Given the description of an element on the screen output the (x, y) to click on. 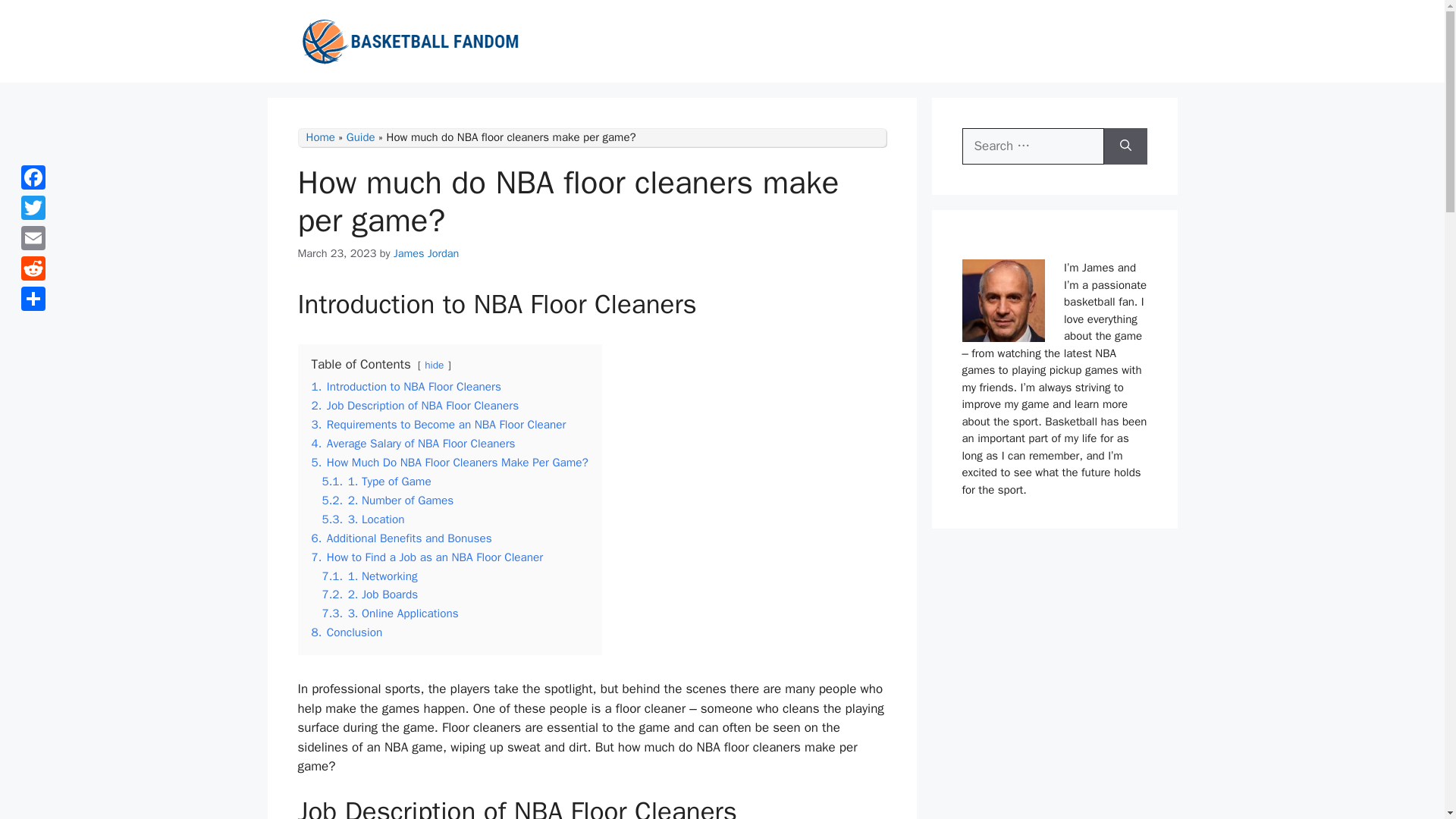
1. Introduction to NBA Floor Cleaners (405, 386)
7. How to Find a Job as an NBA Floor Cleaner (427, 557)
4. Average Salary of NBA Floor Cleaners (413, 443)
View all posts by James Jordan (426, 253)
5.1. 1. Type of Game (375, 481)
5. How Much Do NBA Floor Cleaners Make Per Game? (449, 462)
Search for: (1031, 145)
Guide (360, 137)
Facebook (32, 177)
8. Conclusion (346, 631)
Home (319, 137)
5.3. 3. Location (362, 519)
2. Job Description of NBA Floor Cleaners (414, 405)
James Jordan (426, 253)
Email (32, 237)
